Given the description of an element on the screen output the (x, y) to click on. 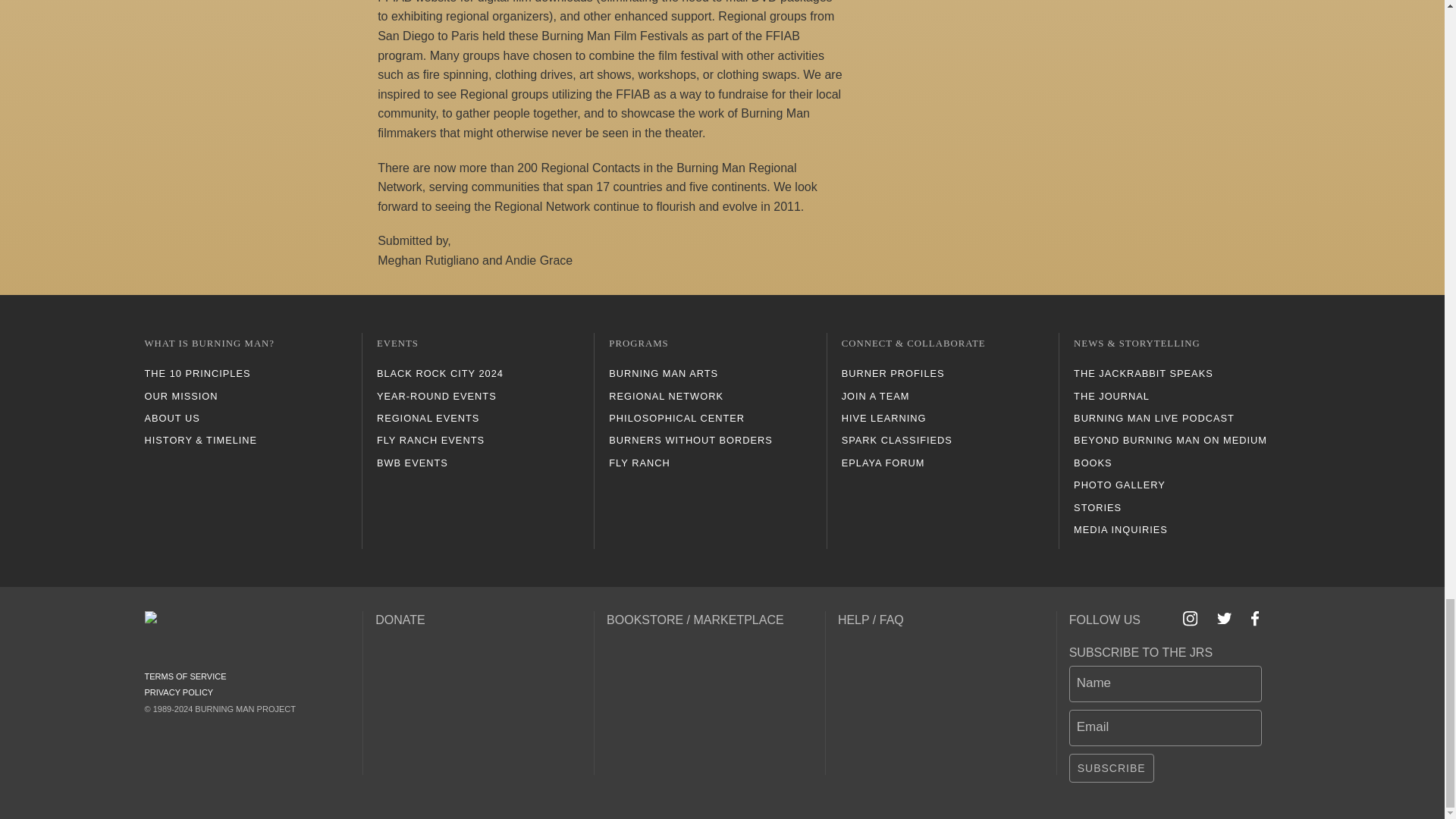
LINK TO BURNING MAN INSTAGRAM (1190, 617)
LINK TO BURNING MAN TWITTER (1224, 618)
LINK TO BURNING MAN FACEBOOK (1254, 617)
